Given the description of an element on the screen output the (x, y) to click on. 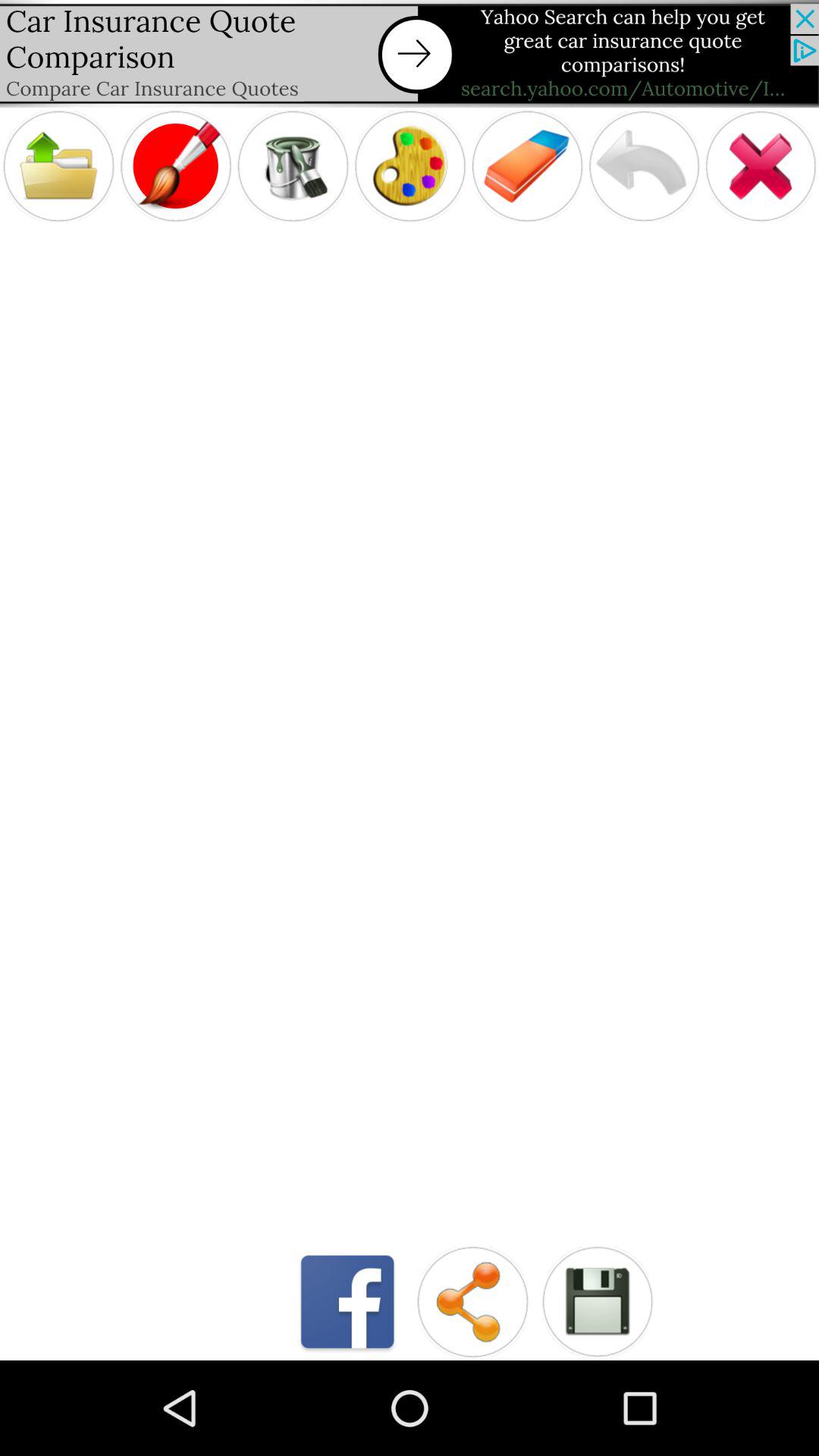
erase button (526, 165)
